Given the description of an element on the screen output the (x, y) to click on. 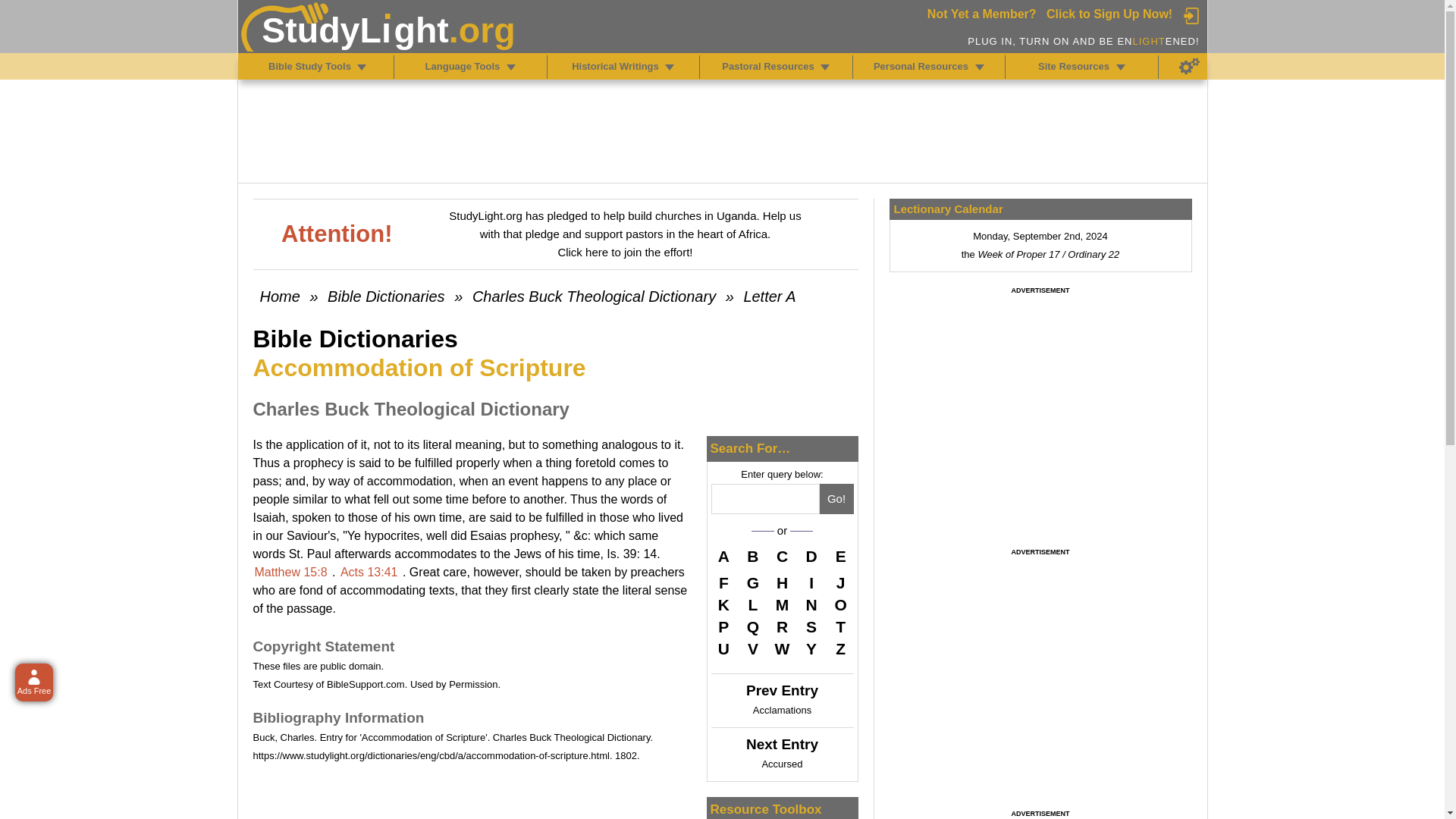
Go! (835, 499)
Go! (835, 499)
W (782, 648)
L (752, 605)
Site Resources (1120, 67)
G (752, 583)
Language Tools (510, 67)
Click here to join the effort! (625, 251)
K (723, 605)
Acclamations (781, 709)
